Given the description of an element on the screen output the (x, y) to click on. 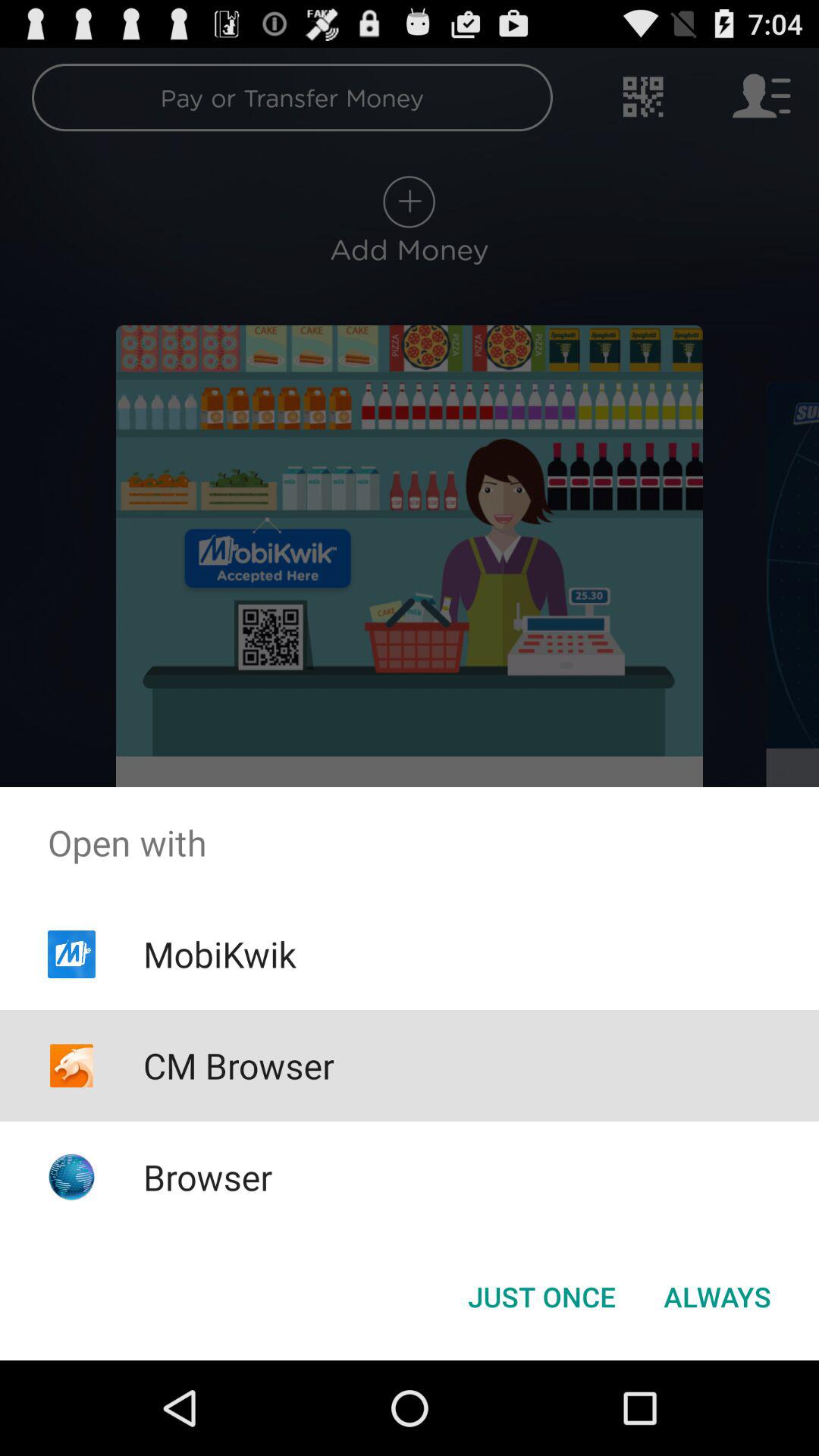
select always item (717, 1296)
